Given the description of an element on the screen output the (x, y) to click on. 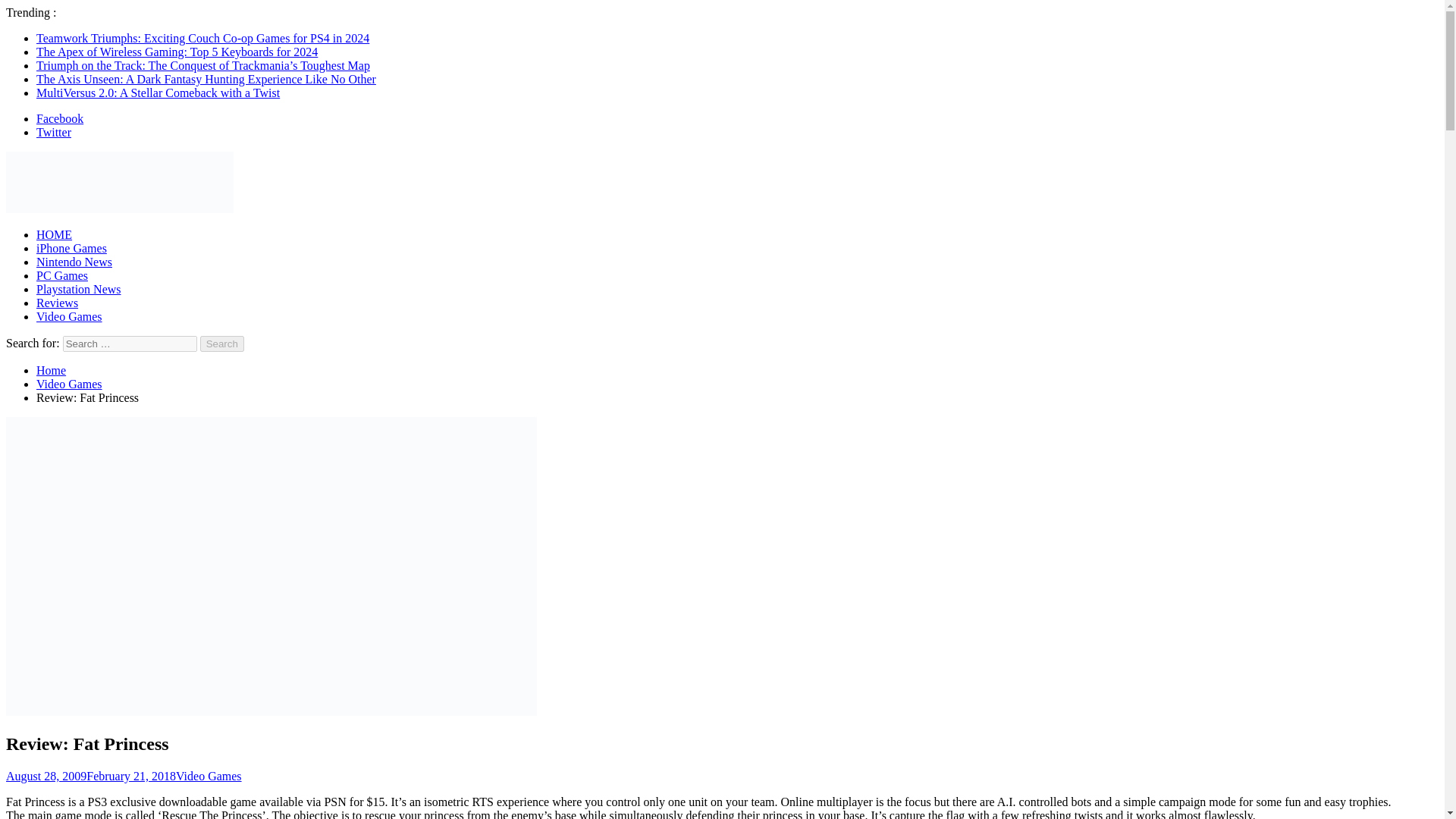
Video Games (68, 316)
MultiVersus 2.0: A Stellar Comeback with a Twist (157, 92)
Twitter (53, 132)
The Apex of Wireless Gaming: Top 5 Keyboards for 2024 (176, 51)
HOME (53, 234)
iPhone Games (71, 247)
August 28, 2009February 21, 2018 (90, 775)
Search (222, 343)
Facebook (59, 118)
